Given the description of an element on the screen output the (x, y) to click on. 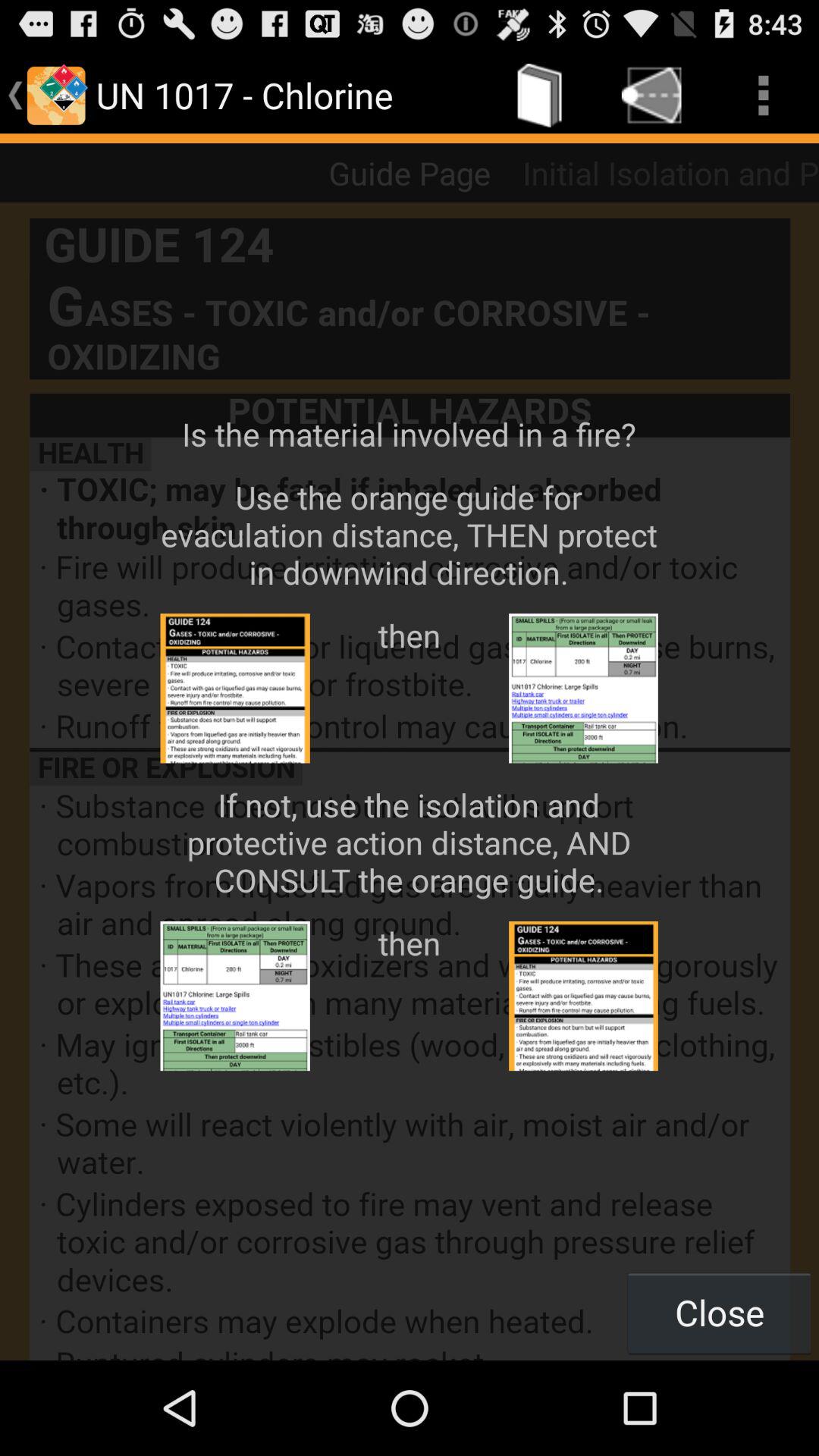
turn off the icon to the right of the un 1017 - chlorine icon (540, 95)
